Given the description of an element on the screen output the (x, y) to click on. 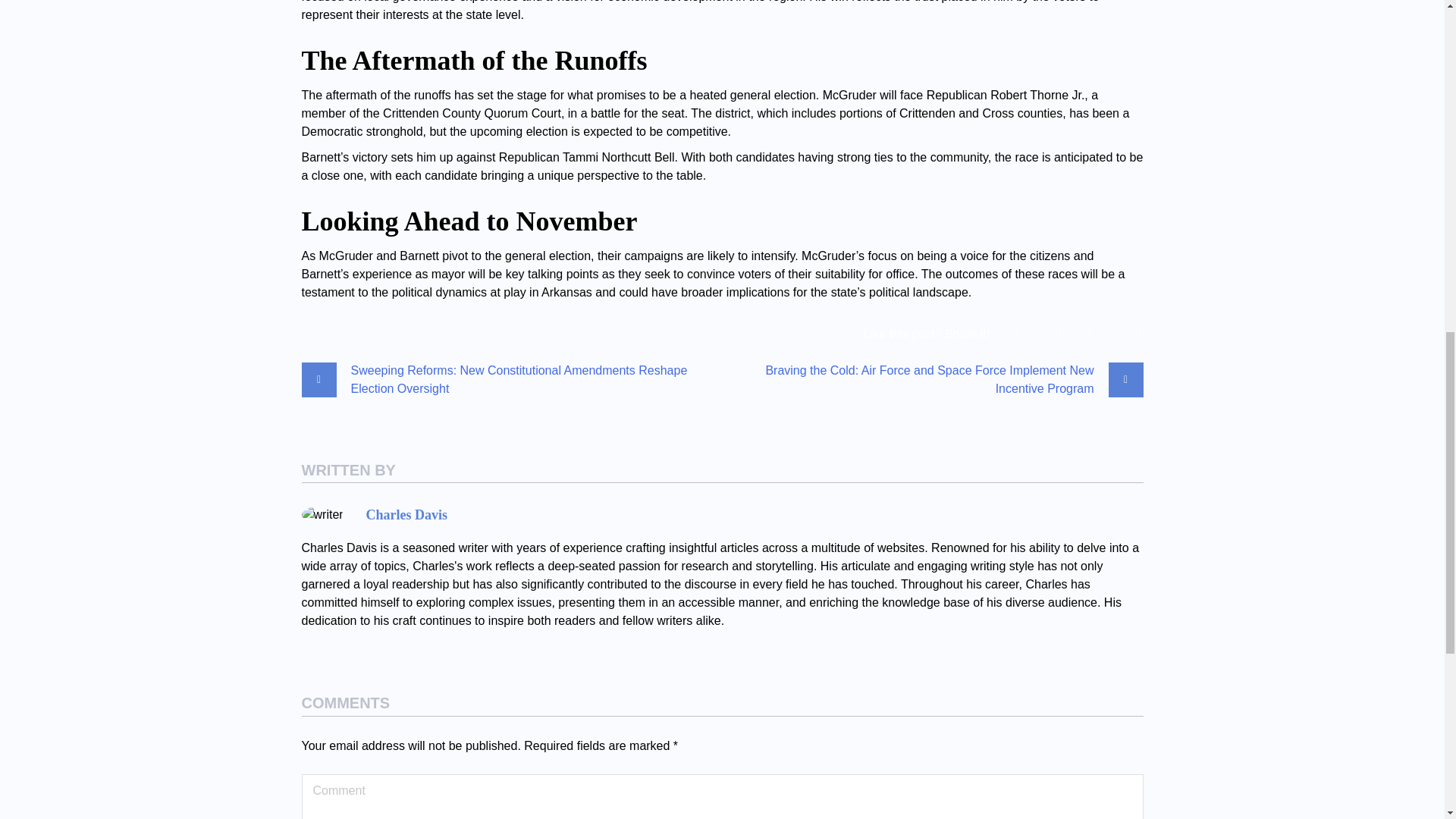
Charles Davis (407, 514)
Posts by Charles Davis (407, 514)
